Given the description of an element on the screen output the (x, y) to click on. 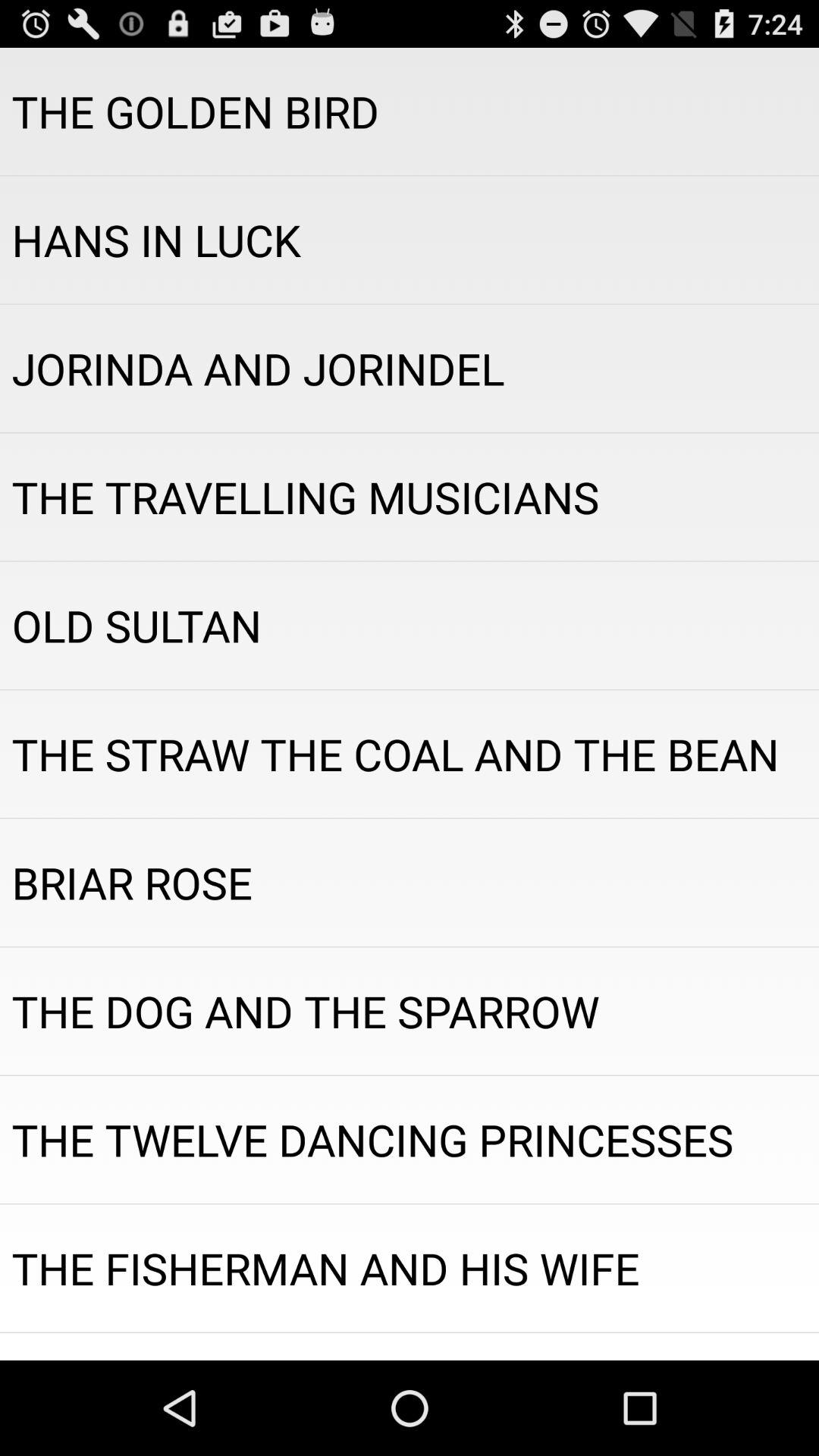
swipe until the old sultan icon (409, 625)
